Given the description of an element on the screen output the (x, y) to click on. 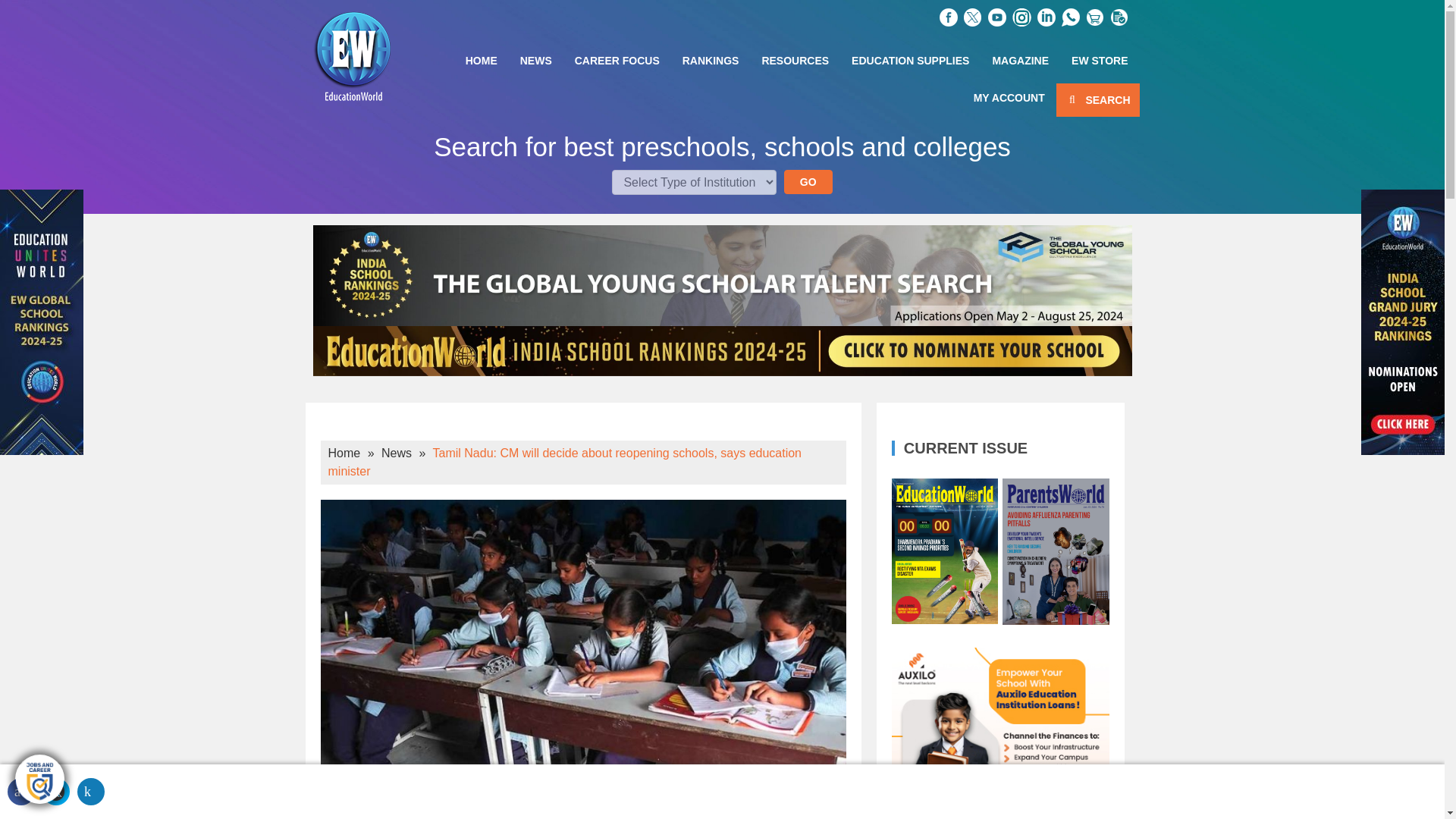
GO (808, 181)
HOME (481, 59)
RANKINGS (711, 59)
MAGAZINE (1019, 59)
EDUCATION SUPPLIES (909, 59)
RESOURCES (794, 59)
CAREER FOCUS (617, 59)
NEWS (535, 59)
